Given the description of an element on the screen output the (x, y) to click on. 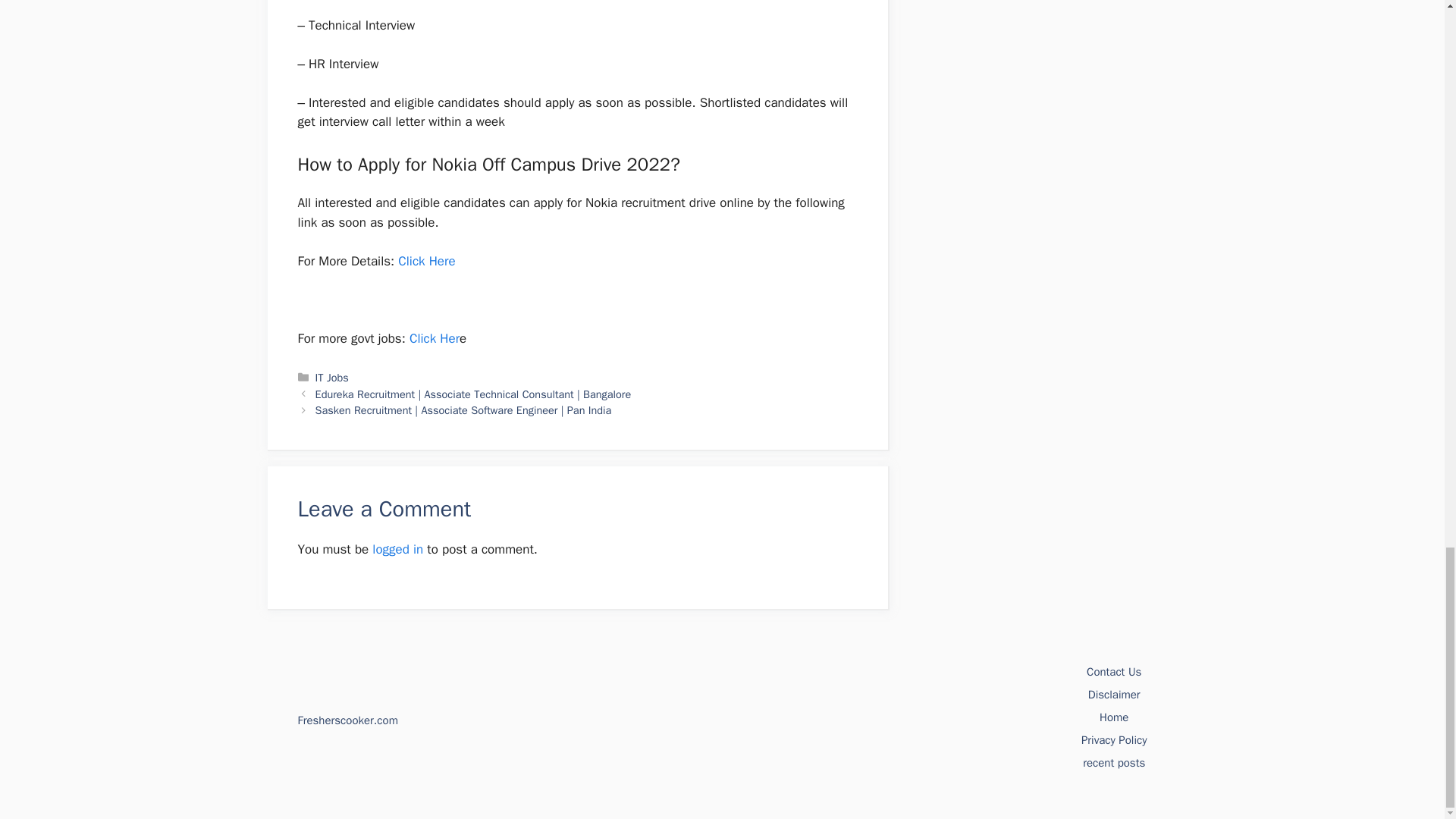
Click Her (434, 338)
Contact Us (1113, 671)
Disclaimer (1113, 694)
logged in (397, 549)
recent posts (1113, 762)
Privacy Policy (1114, 739)
Click Here (425, 261)
Home (1113, 716)
IT Jobs (332, 377)
